Given the description of an element on the screen output the (x, y) to click on. 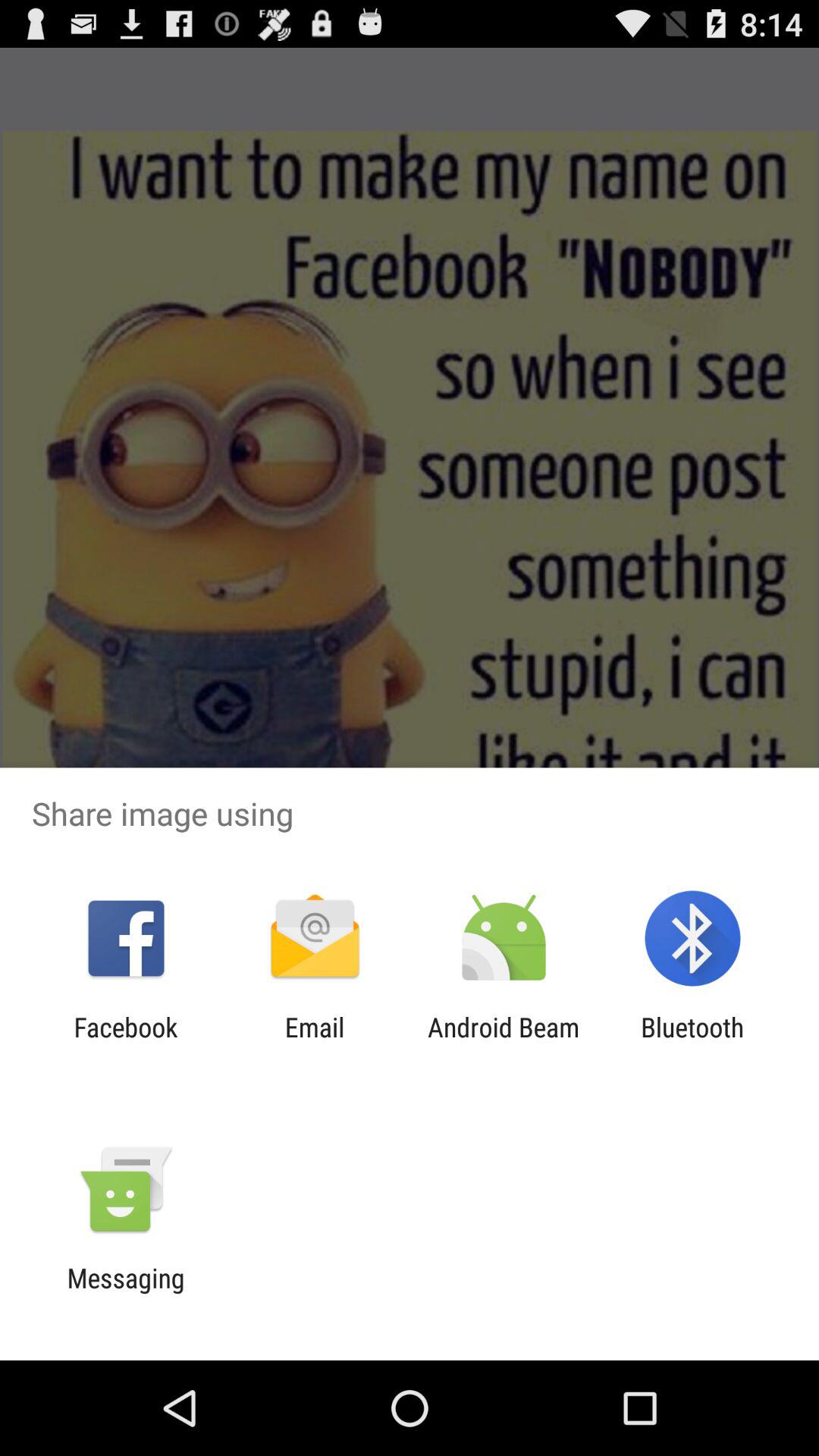
turn on item next to the email icon (125, 1042)
